Given the description of an element on the screen output the (x, y) to click on. 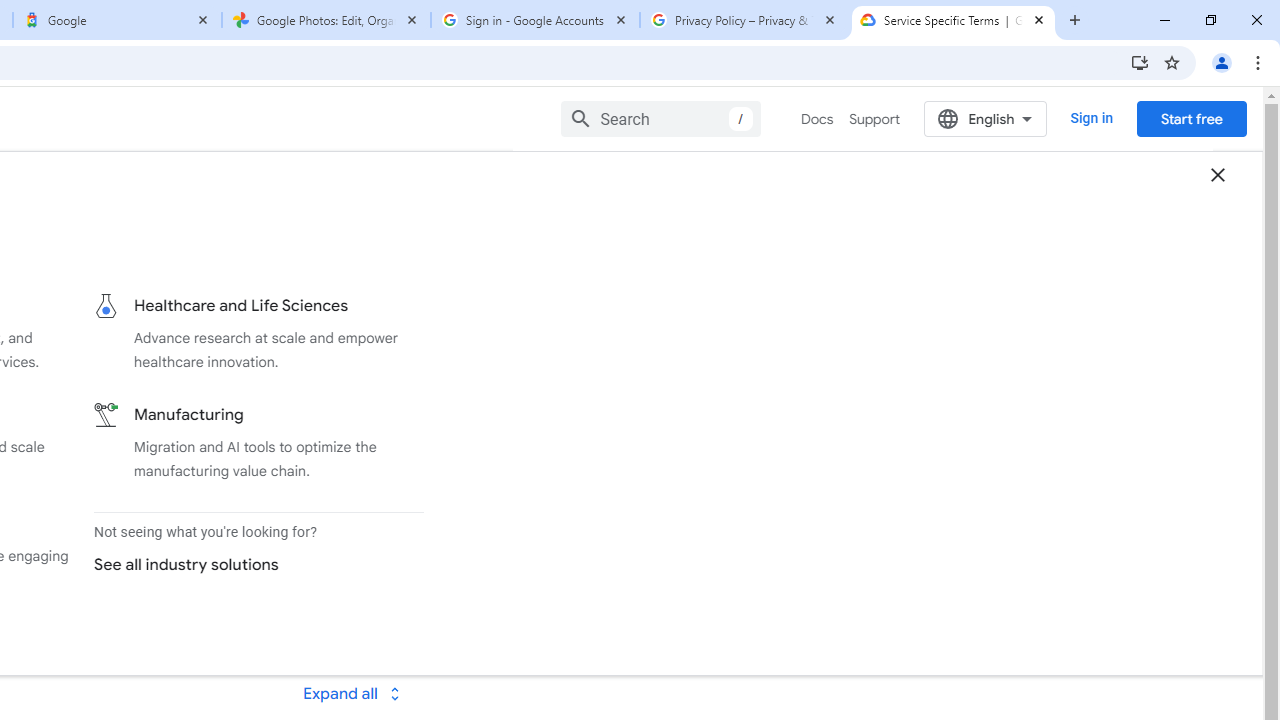
Install Google Cloud (1139, 62)
Toggle all (351, 692)
English (985, 118)
Sign in - Google Accounts (535, 20)
Docs (817, 119)
